Given the description of an element on the screen output the (x, y) to click on. 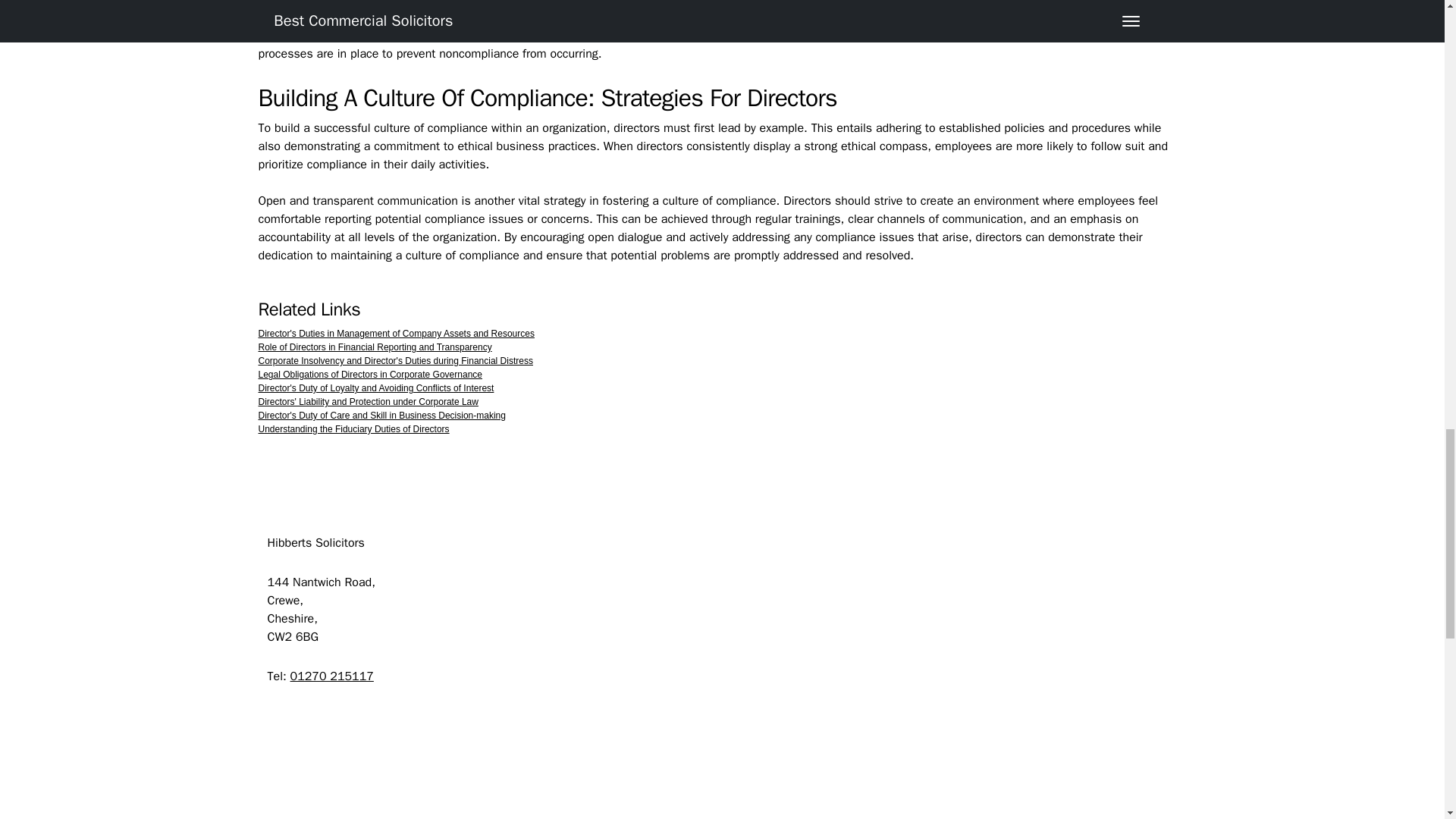
Understanding the Fiduciary Duties of Directors (352, 429)
01270 215117 (331, 676)
Legal Obligations of Directors in Corporate Governance (369, 374)
Directors' Liability and Protection under Corporate Law (367, 401)
Role of Directors in Financial Reporting and Transparency (374, 347)
